Given the description of an element on the screen output the (x, y) to click on. 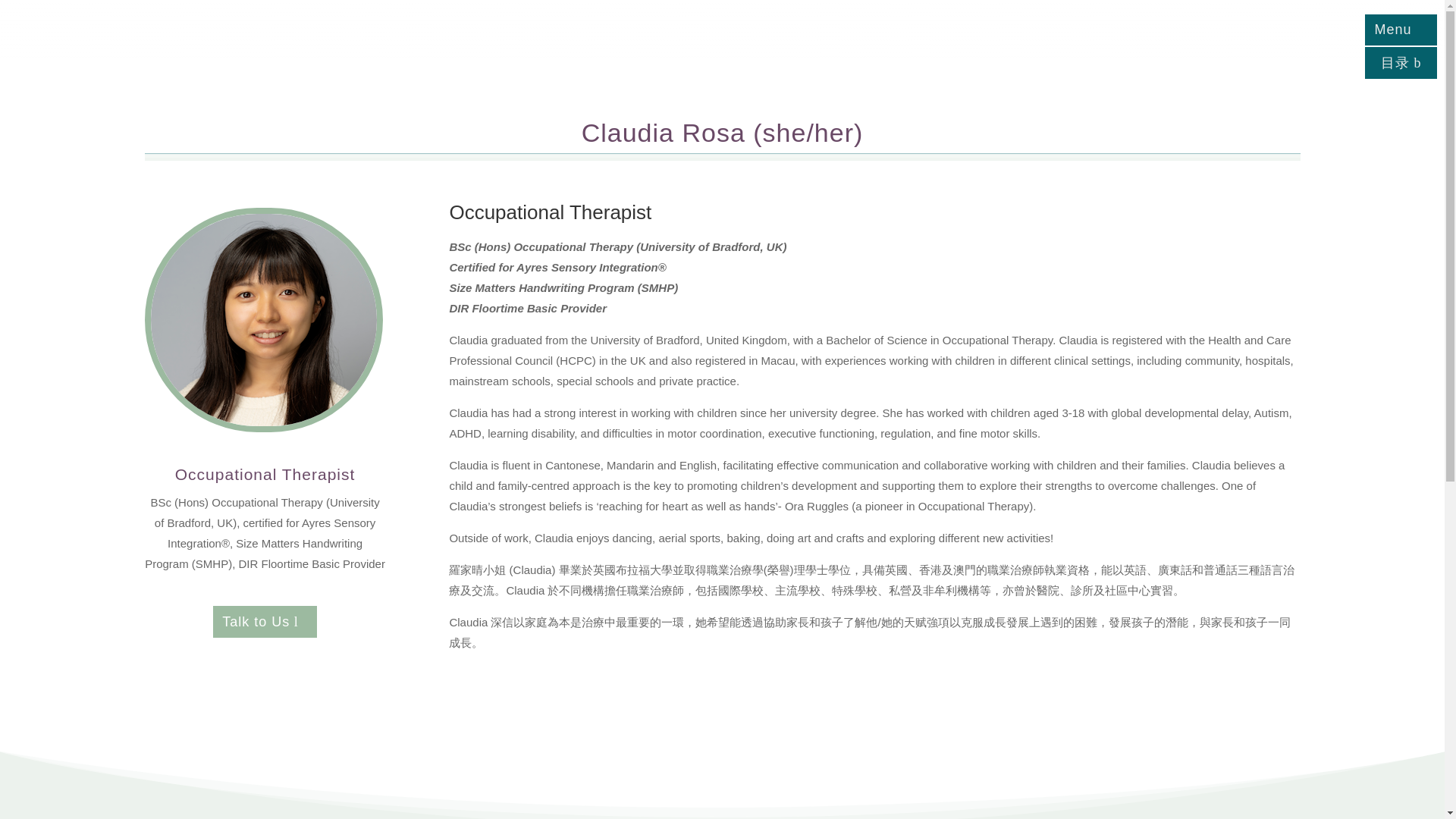
Menu (1401, 29)
